Given the description of an element on the screen output the (x, y) to click on. 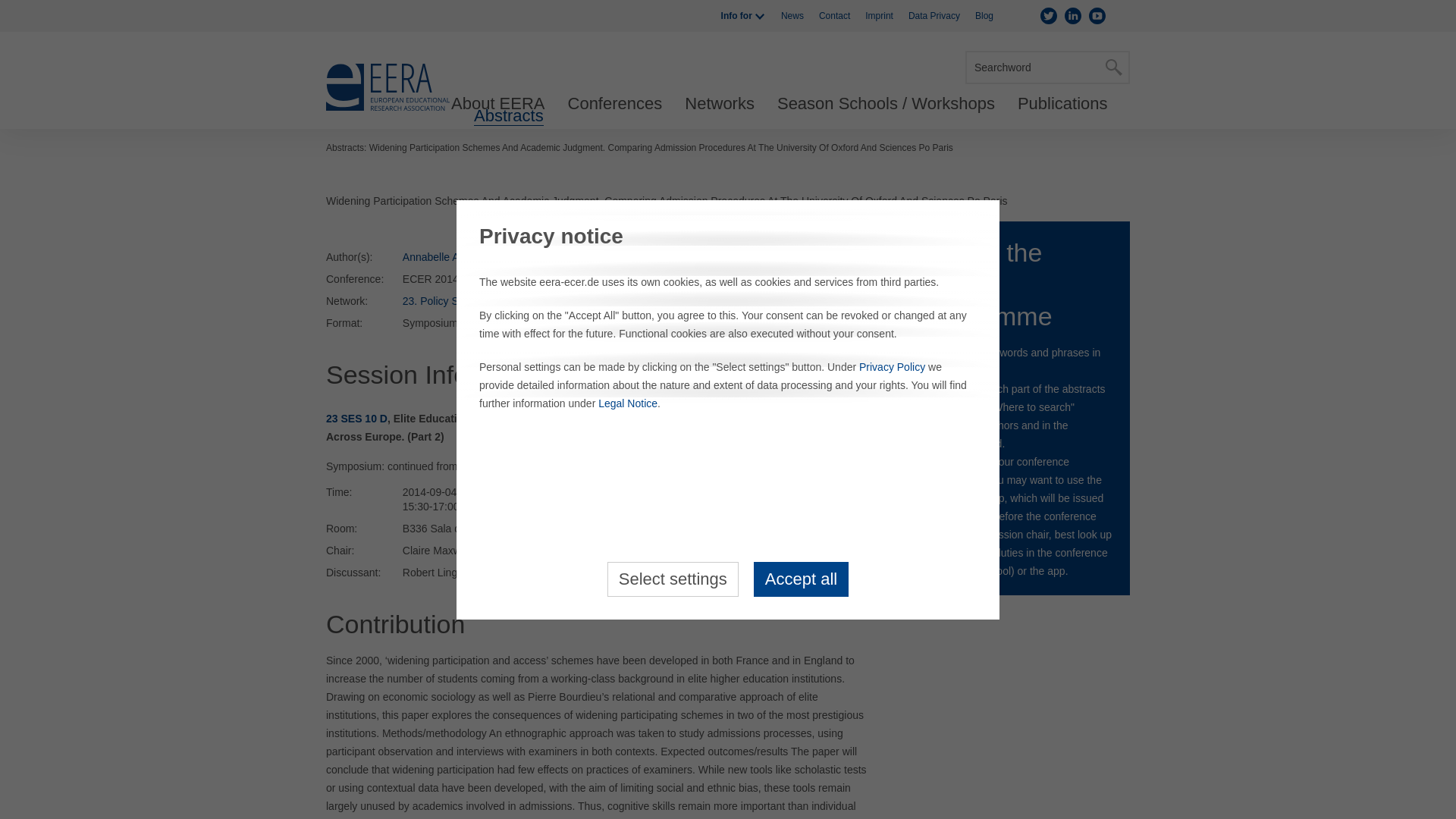
Select settings (672, 578)
Blog (984, 15)
About EERA (497, 103)
Legal Notice (628, 403)
Privacy Policy (891, 367)
About EERA (497, 103)
News (791, 15)
Imprint (879, 15)
RSS (1121, 15)
Linkedin (1072, 15)
Info for (743, 15)
Search (1113, 67)
Search (1113, 67)
Facebook (1024, 15)
Twitter (1049, 15)
